Given the description of an element on the screen output the (x, y) to click on. 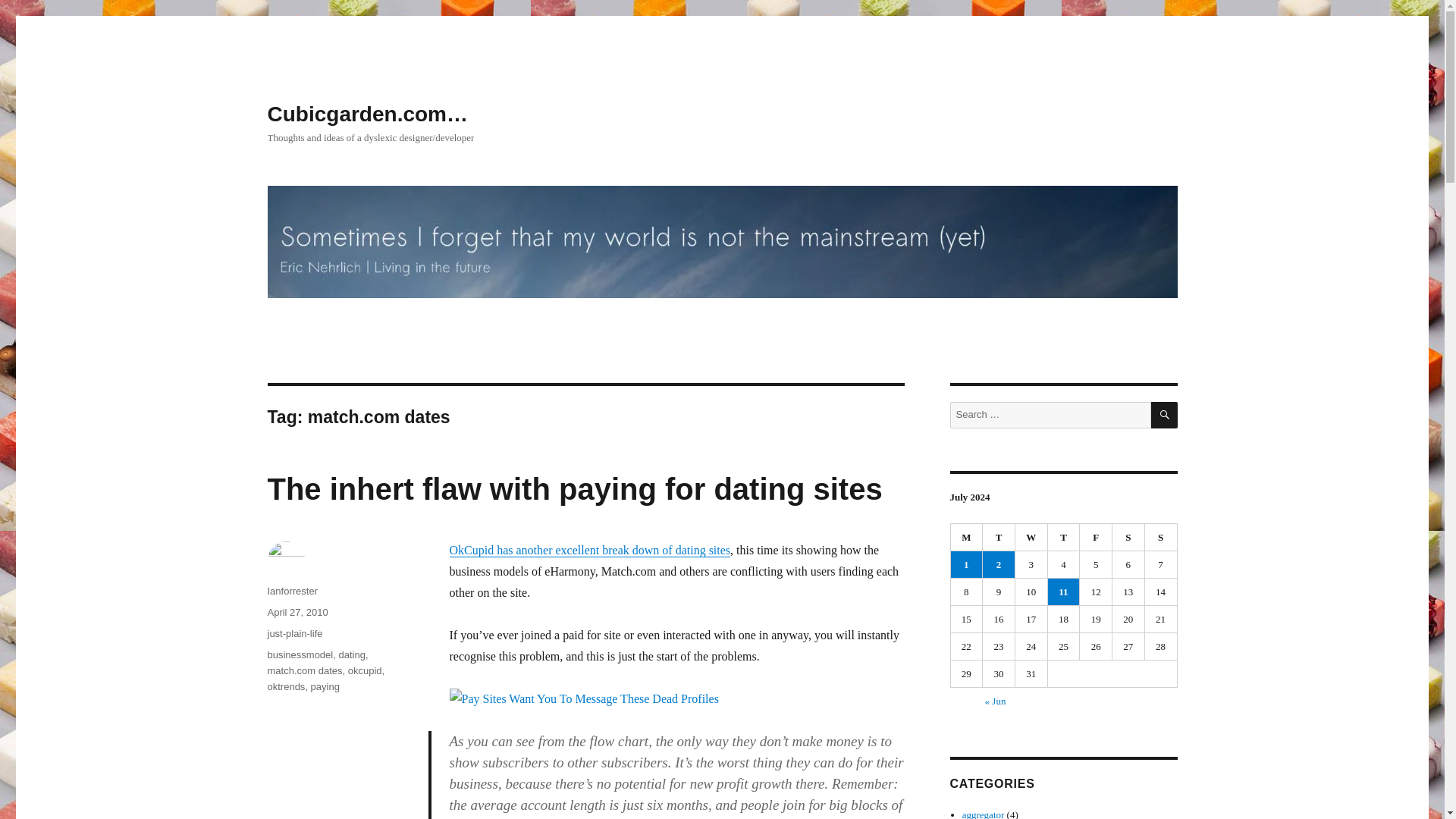
Monday (967, 537)
businessmodel (299, 654)
11 (1064, 591)
2 (998, 564)
April 27, 2010 (296, 612)
okcupid (364, 670)
1 (966, 564)
just-plain-life (293, 633)
paying (325, 686)
match.com dates (304, 670)
Saturday (1128, 537)
The inhert flaw with paying for dating sites (574, 489)
OkCupid has another excellent break down of dating sites (589, 549)
aggregator (983, 814)
Thursday (1064, 537)
